Given the description of an element on the screen output the (x, y) to click on. 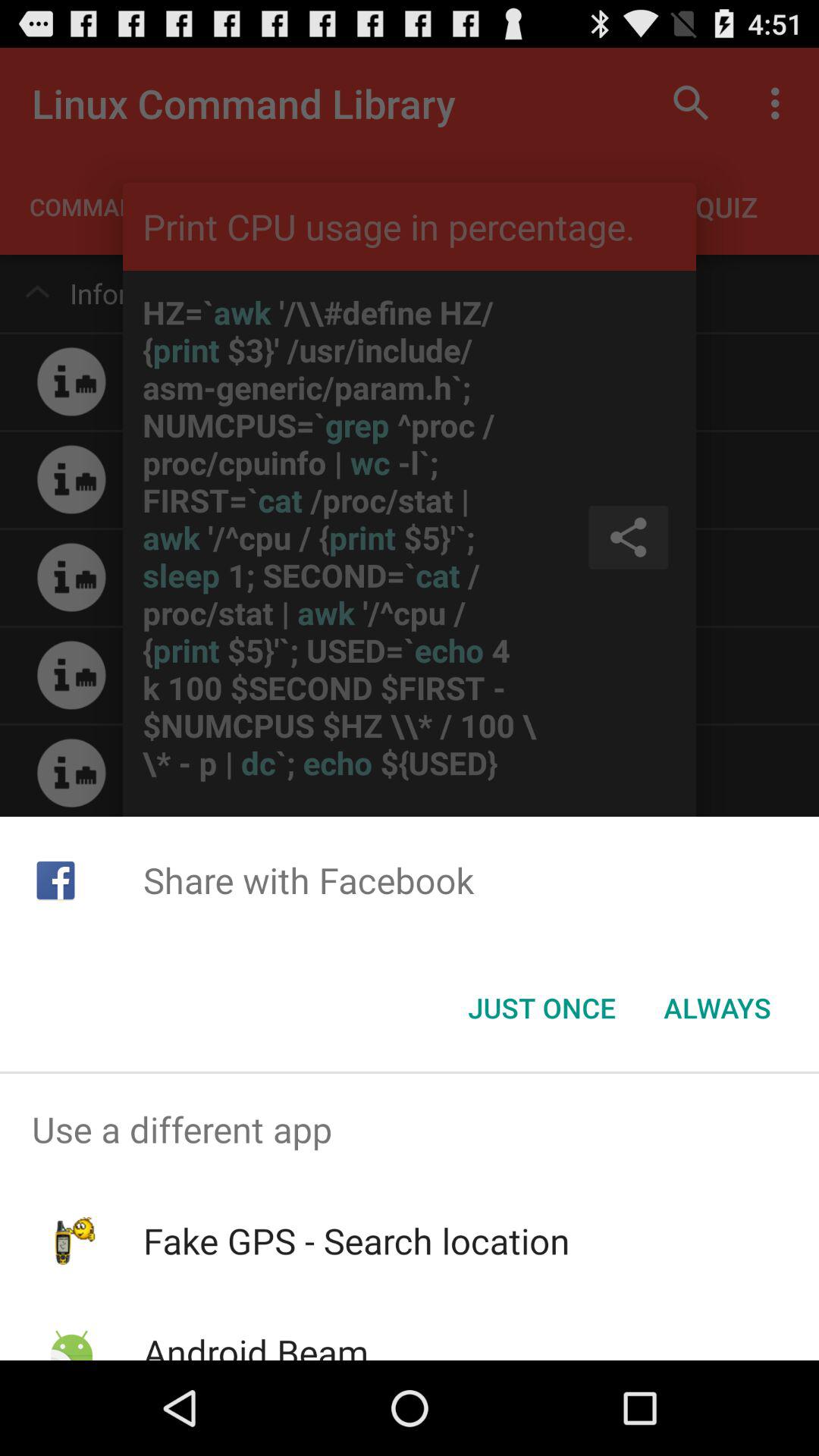
select app below use a different item (356, 1240)
